Given the description of an element on the screen output the (x, y) to click on. 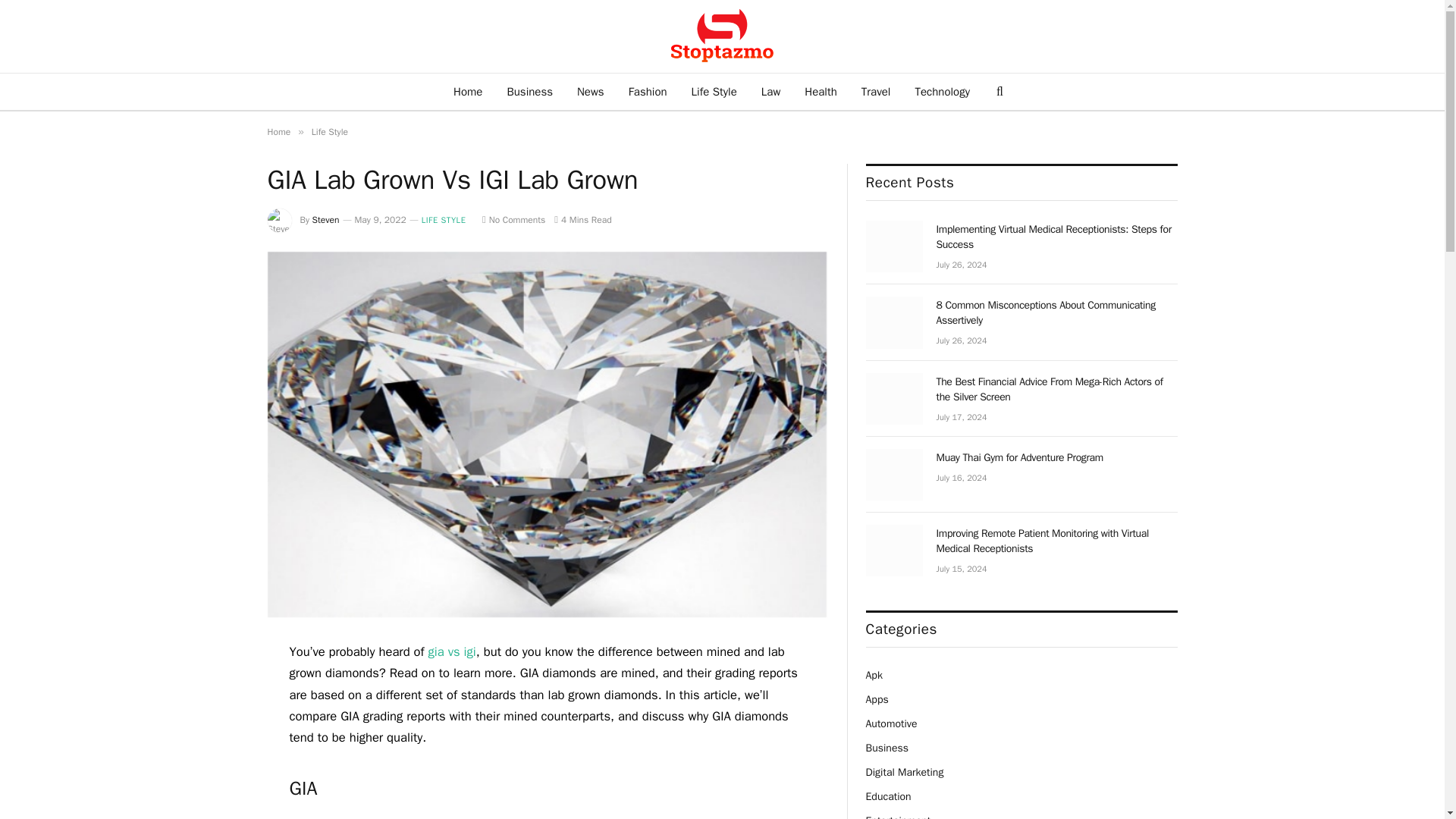
Home (468, 91)
News (589, 91)
Law (770, 91)
Stoptazmo (722, 36)
Home (277, 132)
Steven (326, 219)
LIFE STYLE (443, 220)
No Comments (512, 219)
Life Style (714, 91)
Technology (941, 91)
gia vs igi (452, 651)
Posts by Steven (326, 219)
Business (529, 91)
Health (820, 91)
